Given the description of an element on the screen output the (x, y) to click on. 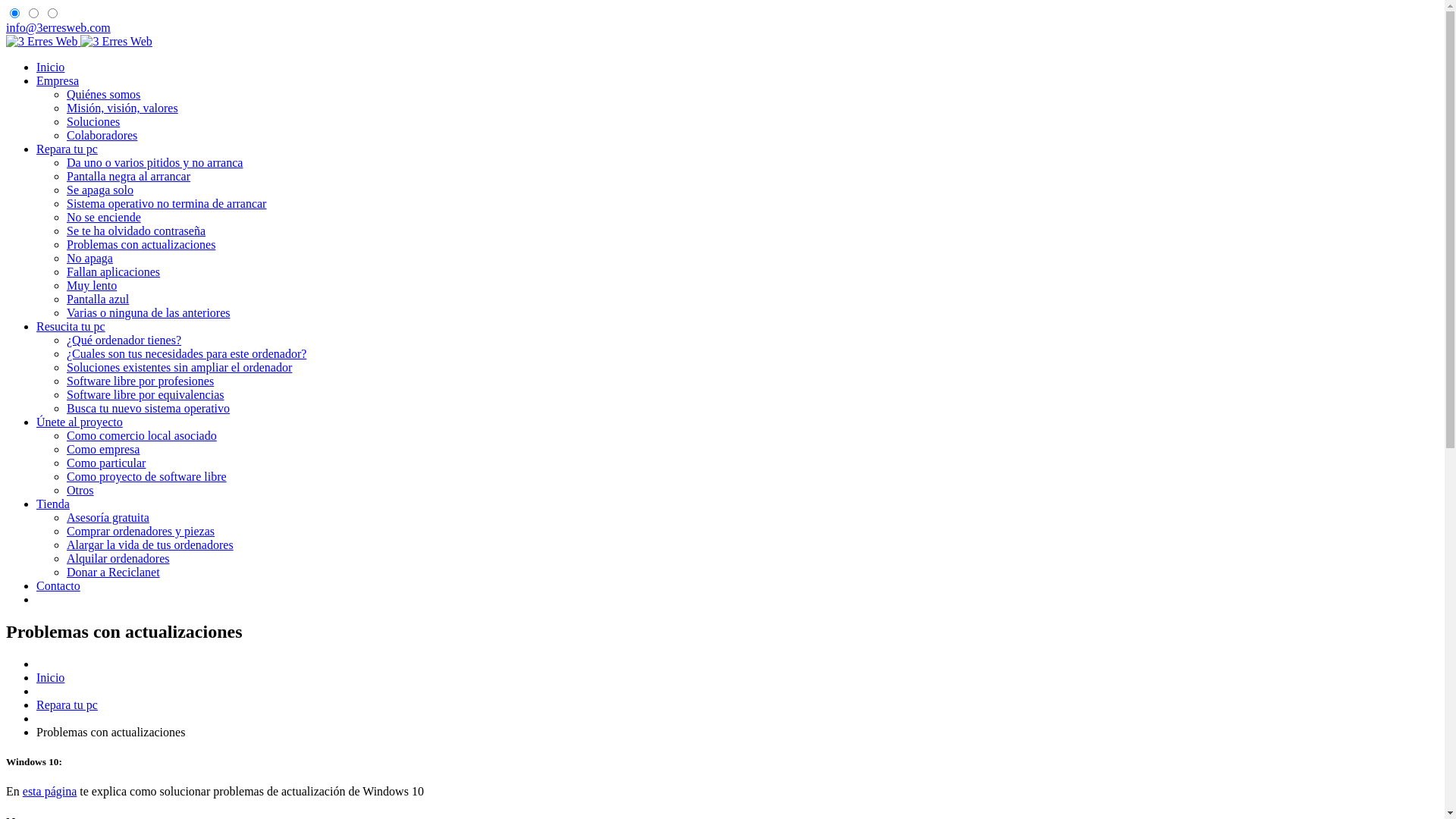
Comprar ordenadores y piezas Element type: text (140, 530)
Repara tu pc Element type: text (66, 704)
Software libre por equivalencias Element type: text (144, 394)
Muy lento Element type: text (91, 285)
Software libre por profesiones Element type: text (139, 380)
Inicio Element type: text (50, 677)
info@3erresweb.com Element type: text (58, 27)
Como empresa Element type: text (102, 448)
Soluciones Element type: text (92, 121)
Tienda Element type: text (52, 503)
Problemas con actualizaciones Element type: text (140, 244)
Como particular Element type: text (105, 462)
Resucita tu pc Element type: text (70, 326)
Inicio Element type: text (50, 66)
Alargar la vida de tus ordenadores Element type: text (149, 544)
Da uno o varios pitidos y no arranca Element type: text (154, 162)
Colaboradores Element type: text (101, 134)
No apaga Element type: text (89, 257)
Como proyecto de software libre Element type: text (146, 476)
Como comercio local asociado Element type: text (141, 435)
Varias o ninguna de las anteriores Element type: text (147, 312)
Empresa Element type: text (57, 80)
Pantalla azul Element type: text (97, 298)
Donar a Reciclanet Element type: text (113, 571)
Contacto Element type: text (58, 585)
Repara tu pc Element type: text (66, 148)
Otros Element type: text (80, 489)
Se apaga solo Element type: text (99, 189)
Pantalla negra al arrancar Element type: text (128, 175)
Alquilar ordenadores Element type: text (117, 558)
Soluciones existentes sin ampliar el ordenador Element type: text (178, 366)
Busca tu nuevo sistema operativo Element type: text (147, 407)
No se enciende Element type: text (103, 216)
Sistema operativo no termina de arrancar Element type: text (166, 203)
Fallan aplicaciones Element type: text (113, 271)
